Given the description of an element on the screen output the (x, y) to click on. 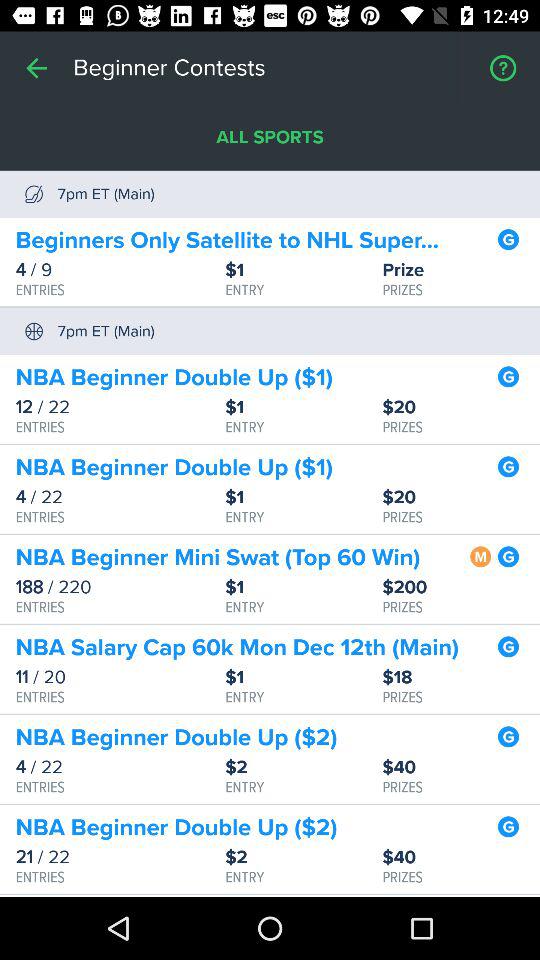
launch icon to the right of $1 icon (461, 587)
